Given the description of an element on the screen output the (x, y) to click on. 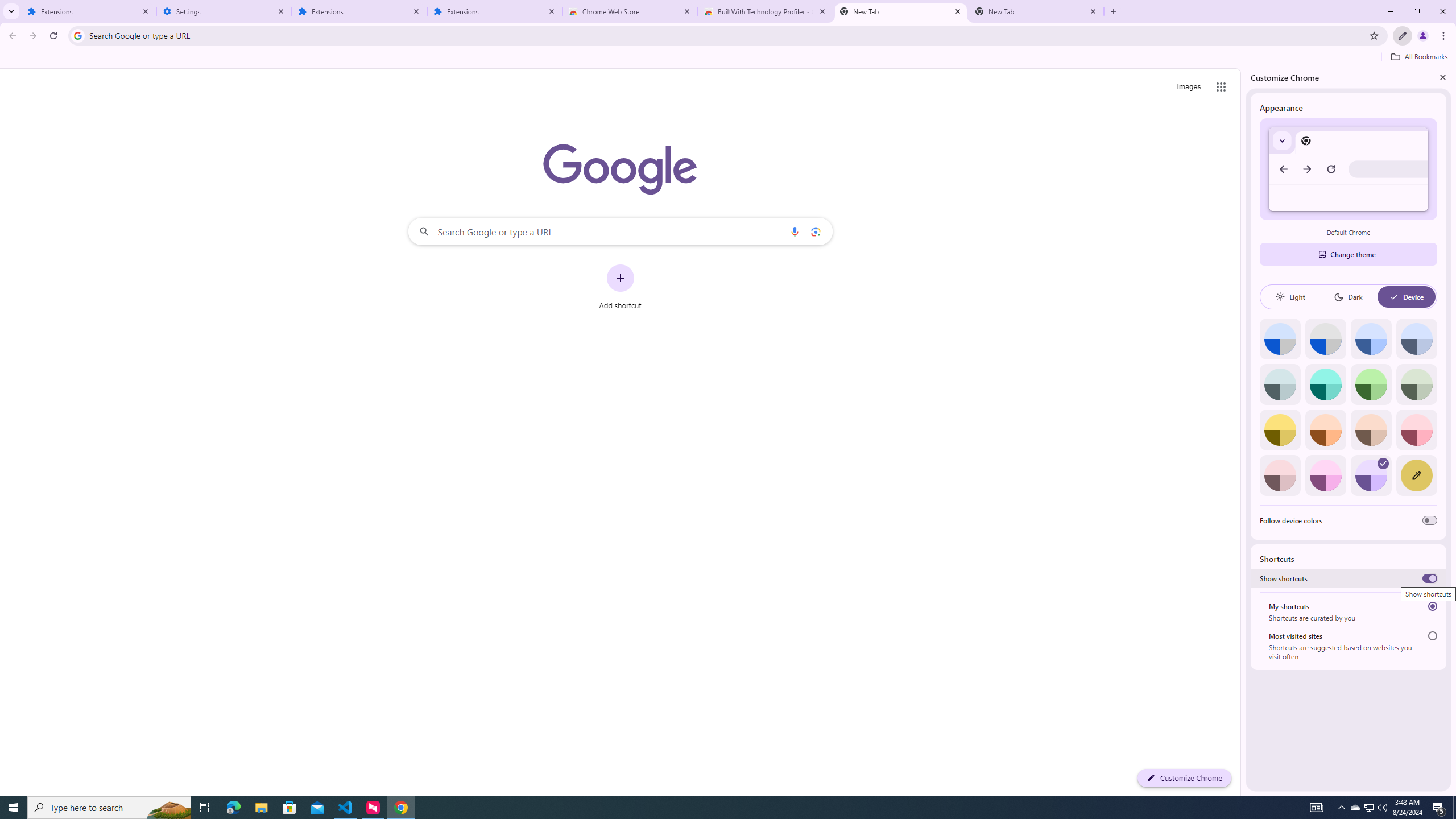
Customize Chrome (1402, 35)
Search for Images  (1188, 87)
Device (1406, 296)
Light (1289, 296)
Violet (1371, 475)
Side Panel Resize Handle (1242, 431)
New Tab (1113, 11)
Green (1371, 383)
Google apps (1220, 86)
Chrome Web Store (630, 11)
Search tabs (10, 11)
Aqua (1325, 383)
Bookmarks (728, 58)
Viridian (1416, 383)
Show shortcuts (1429, 578)
